Given the description of an element on the screen output the (x, y) to click on. 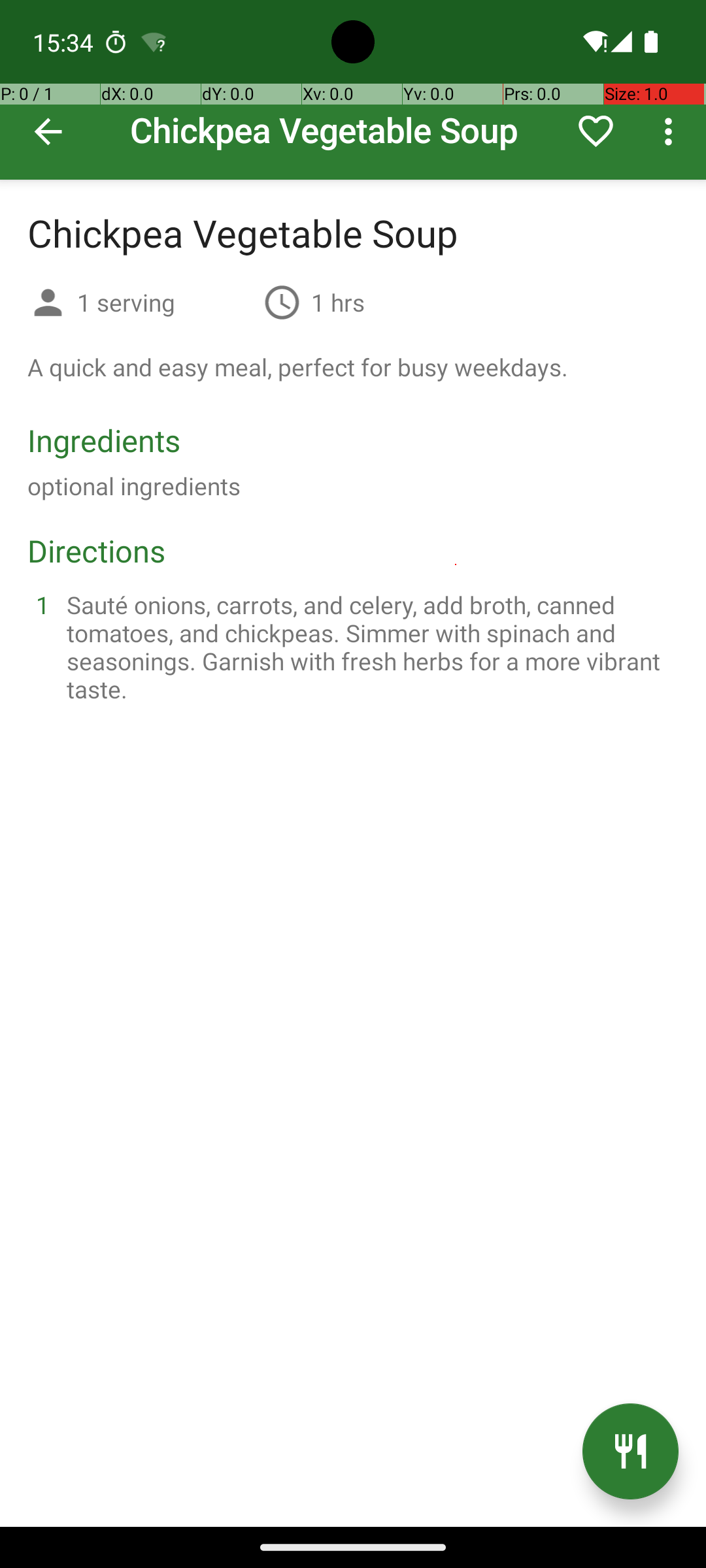
Sauté onions, carrots, and celery, add broth, canned tomatoes, and chickpeas. Simmer with spinach and seasonings. Garnish with fresh herbs for a more vibrant taste. Element type: android.widget.TextView (368, 646)
